Given the description of an element on the screen output the (x, y) to click on. 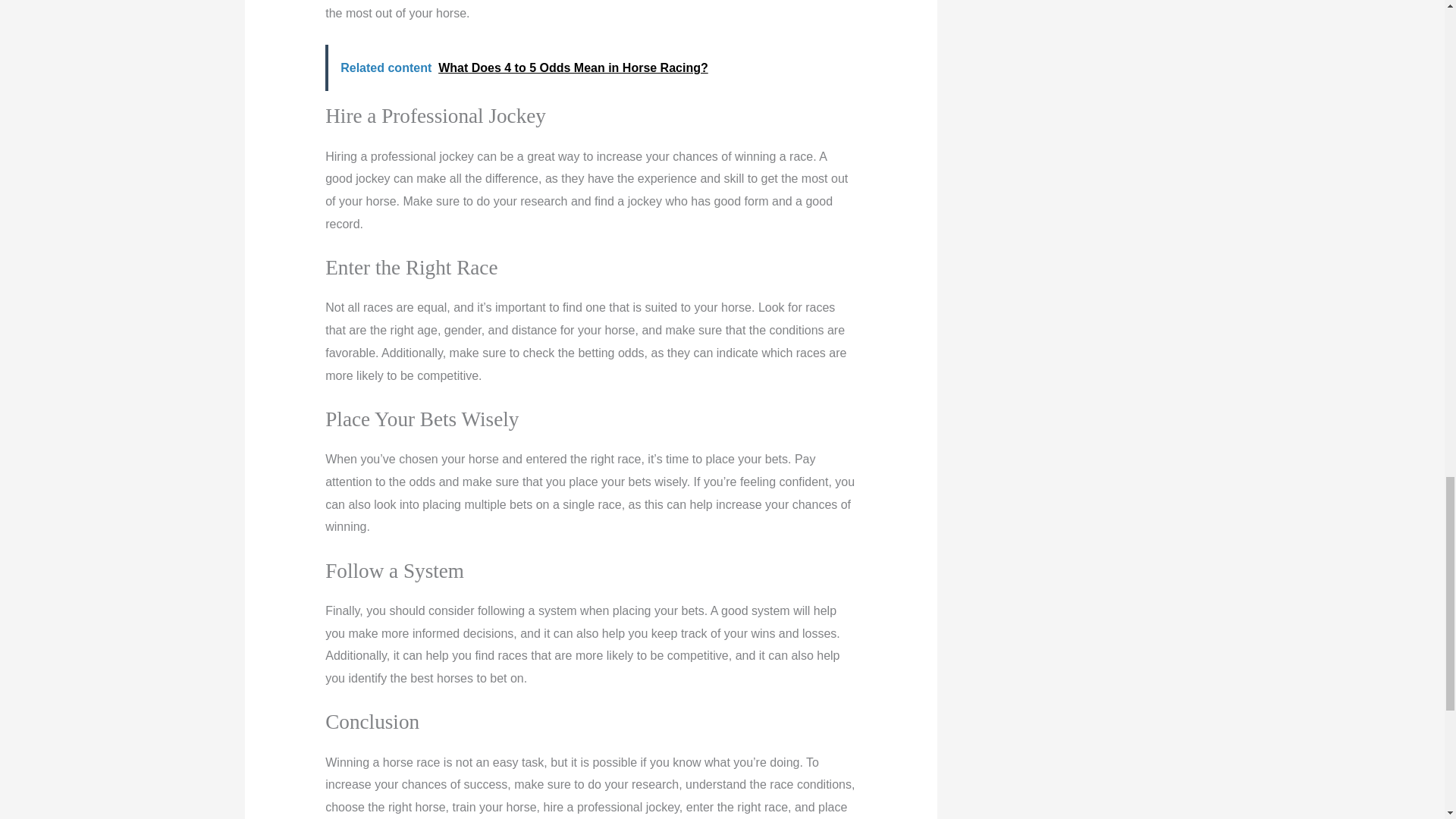
Related content  What Does 4 to 5 Odds Mean in Horse Racing? (590, 68)
